Given the description of an element on the screen output the (x, y) to click on. 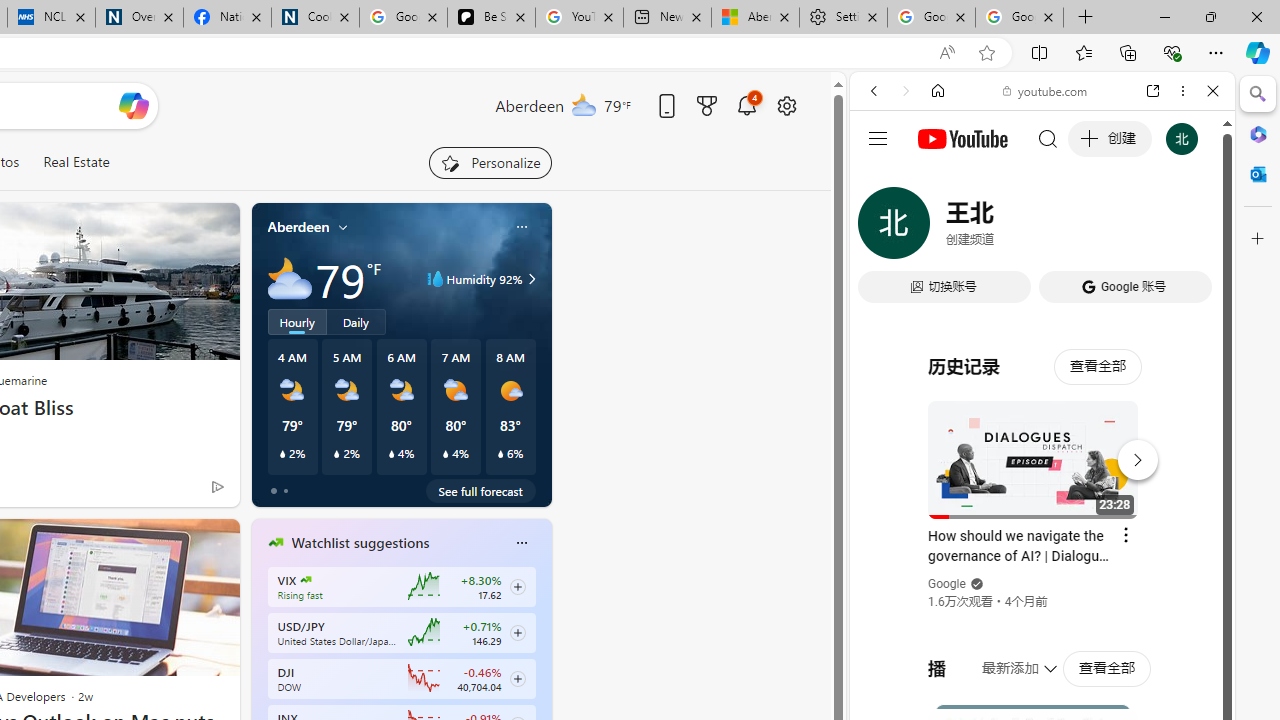
Watchlist suggestions (360, 543)
Daily (356, 321)
tab-0 (273, 490)
Aberdeen (298, 227)
See full forecast (480, 490)
